Given the description of an element on the screen output the (x, y) to click on. 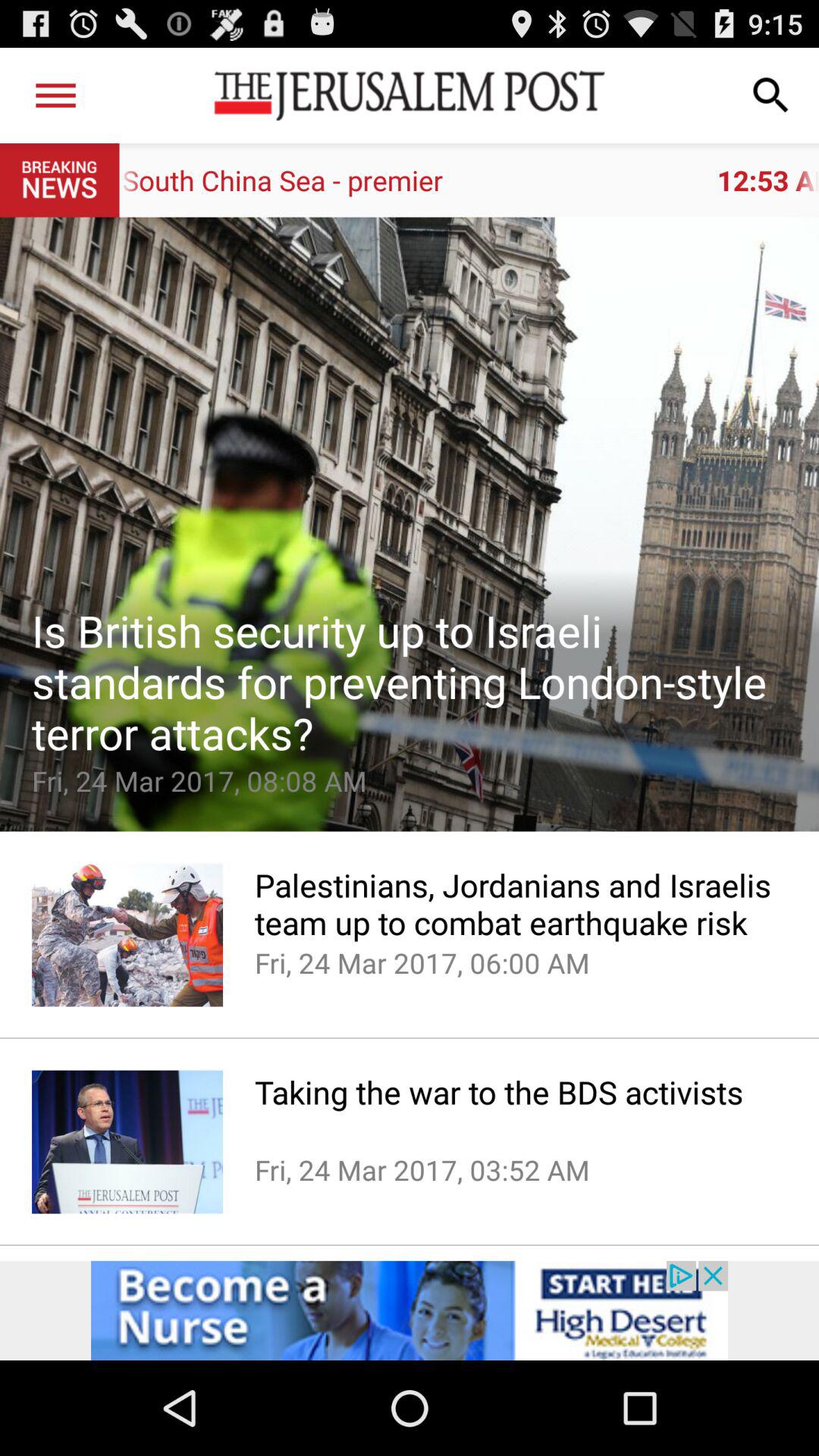
choose the 12 53 am item (469, 180)
